Given the description of an element on the screen output the (x, y) to click on. 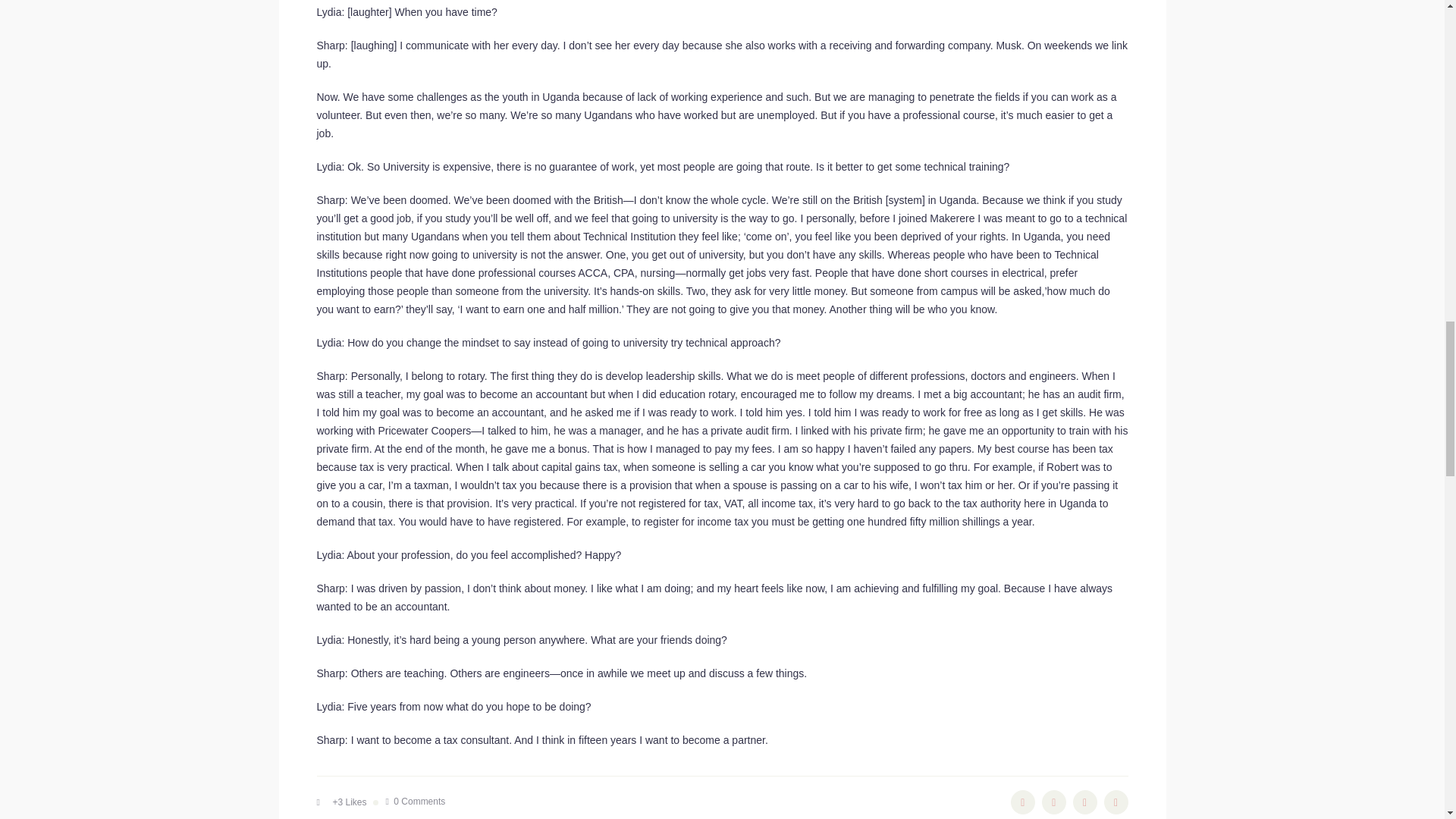
0 Comments (415, 801)
